Given the description of an element on the screen output the (x, y) to click on. 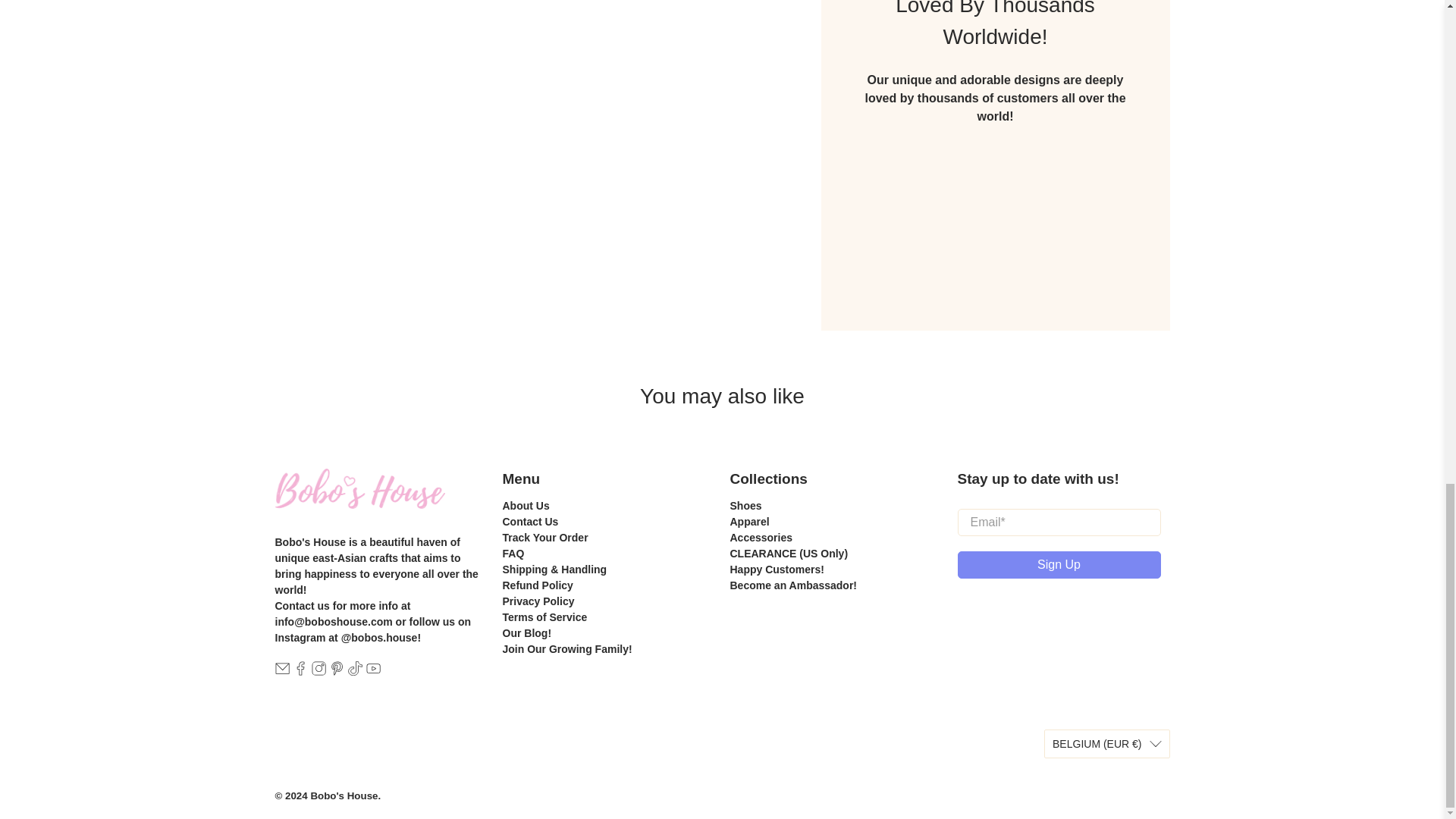
Bobo's House on Facebook (300, 671)
Bobo's House on Instagram (318, 671)
Email Bobo's House (281, 671)
Bobo's House on TikTok (354, 671)
Bobo's House on YouTube (373, 671)
Bobo's House on Pinterest (336, 671)
Bobo's House (359, 501)
